Given the description of an element on the screen output the (x, y) to click on. 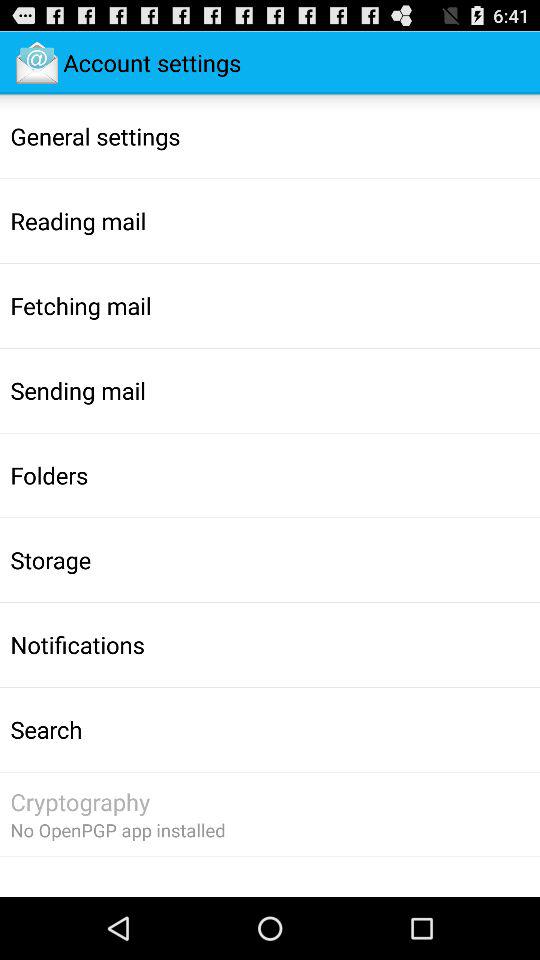
open app above the cryptography icon (46, 729)
